Given the description of an element on the screen output the (x, y) to click on. 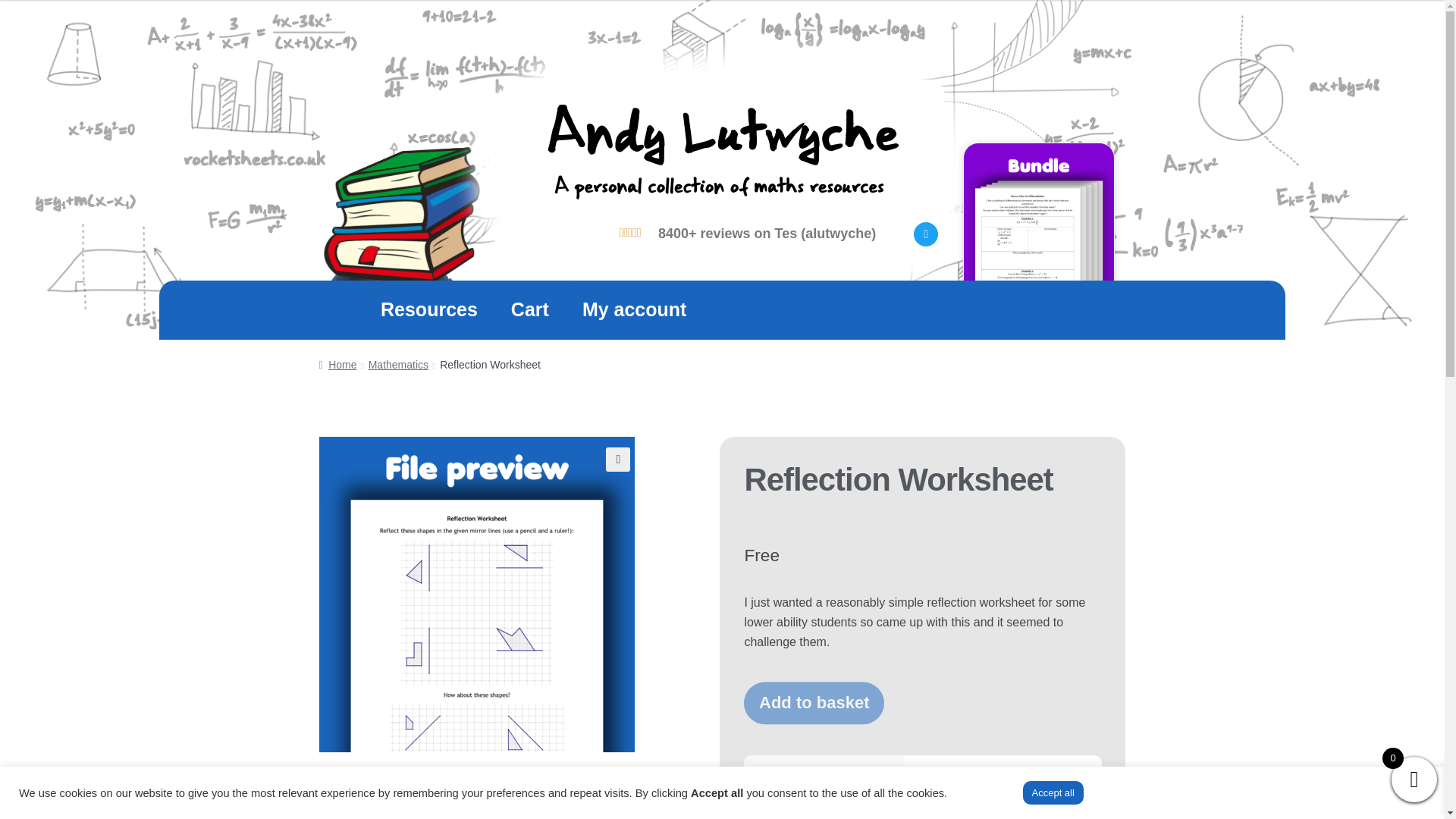
reflection-worksheet-7558516-preview 1 (476, 594)
Twitter (925, 233)
Add to basket (813, 702)
My account (634, 310)
Mathematics (398, 364)
Accept all (1052, 792)
Cart (529, 310)
Age 14-16 (948, 816)
Resources (429, 310)
Age 9-13 (1008, 816)
Home (337, 364)
